Given the description of an element on the screen output the (x, y) to click on. 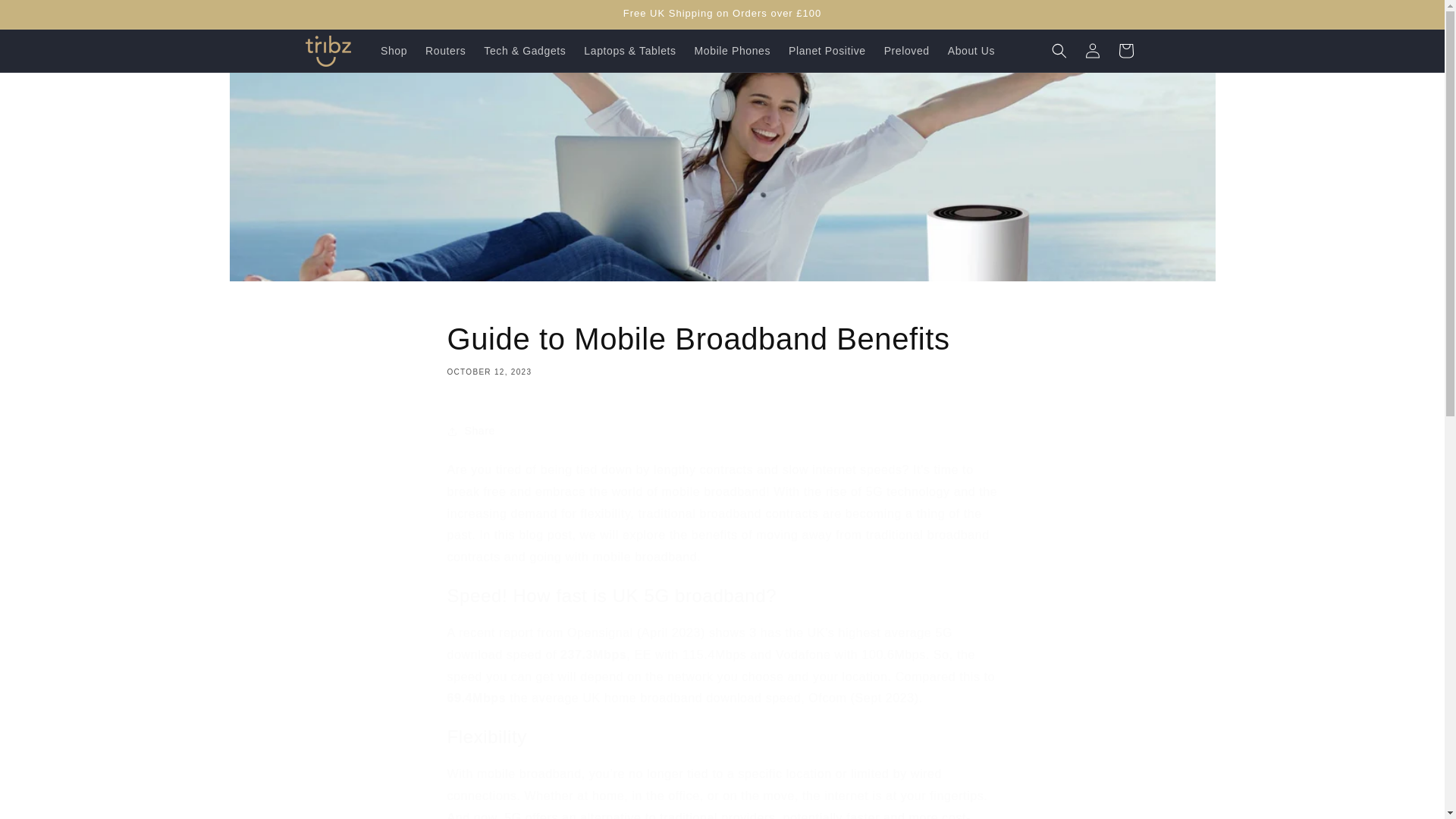
Planet Positive (826, 50)
Share (721, 430)
Preloved (907, 50)
Log in (721, 347)
Routers (1091, 50)
Cart (445, 50)
About Us (1124, 50)
Skip to content (971, 50)
Mobile Phones (45, 17)
